Given the description of an element on the screen output the (x, y) to click on. 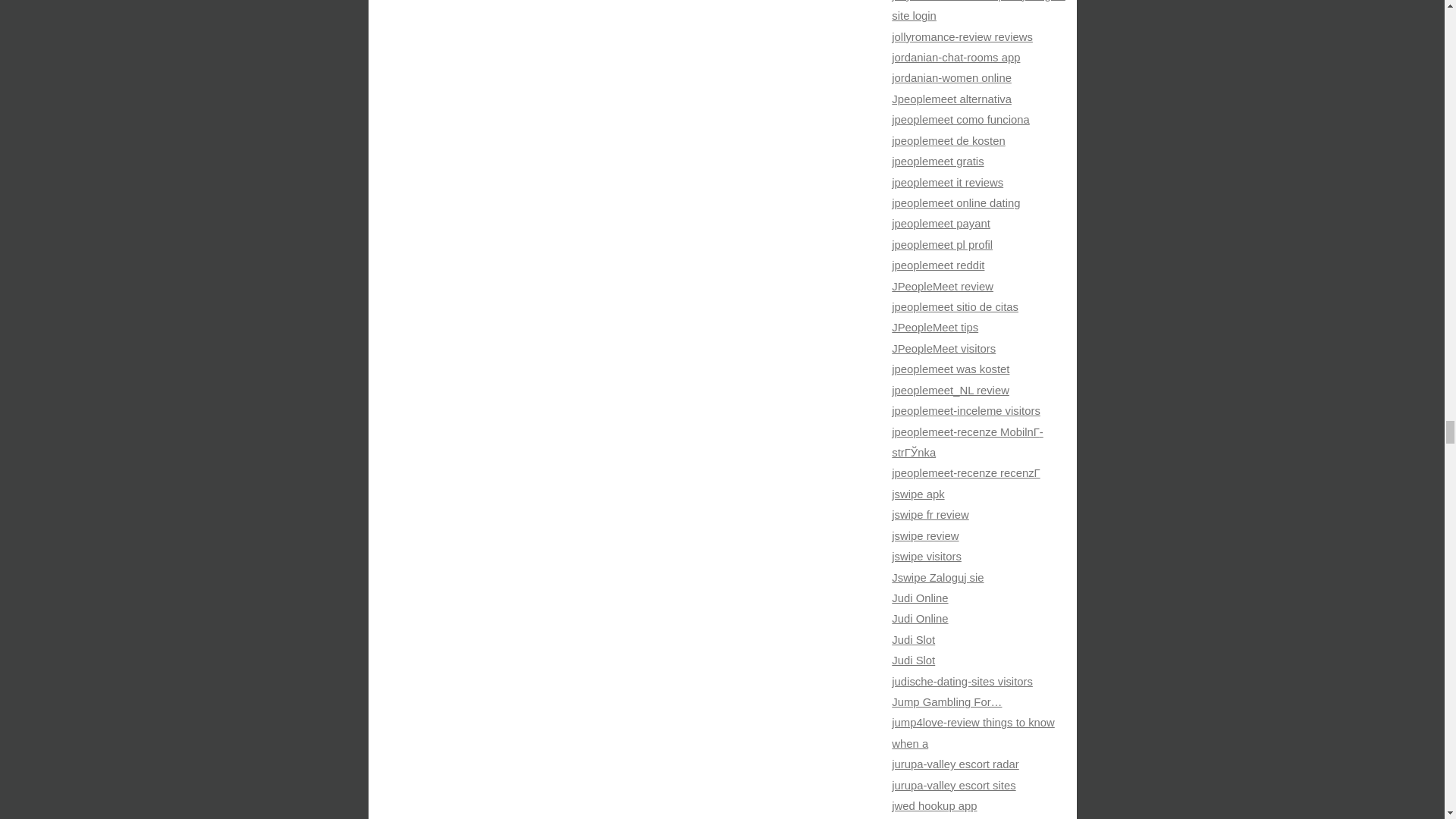
Judi Slot (912, 639)
Judi Online (919, 618)
Judi Slot (912, 660)
Judi Online (919, 598)
